Given the description of an element on the screen output the (x, y) to click on. 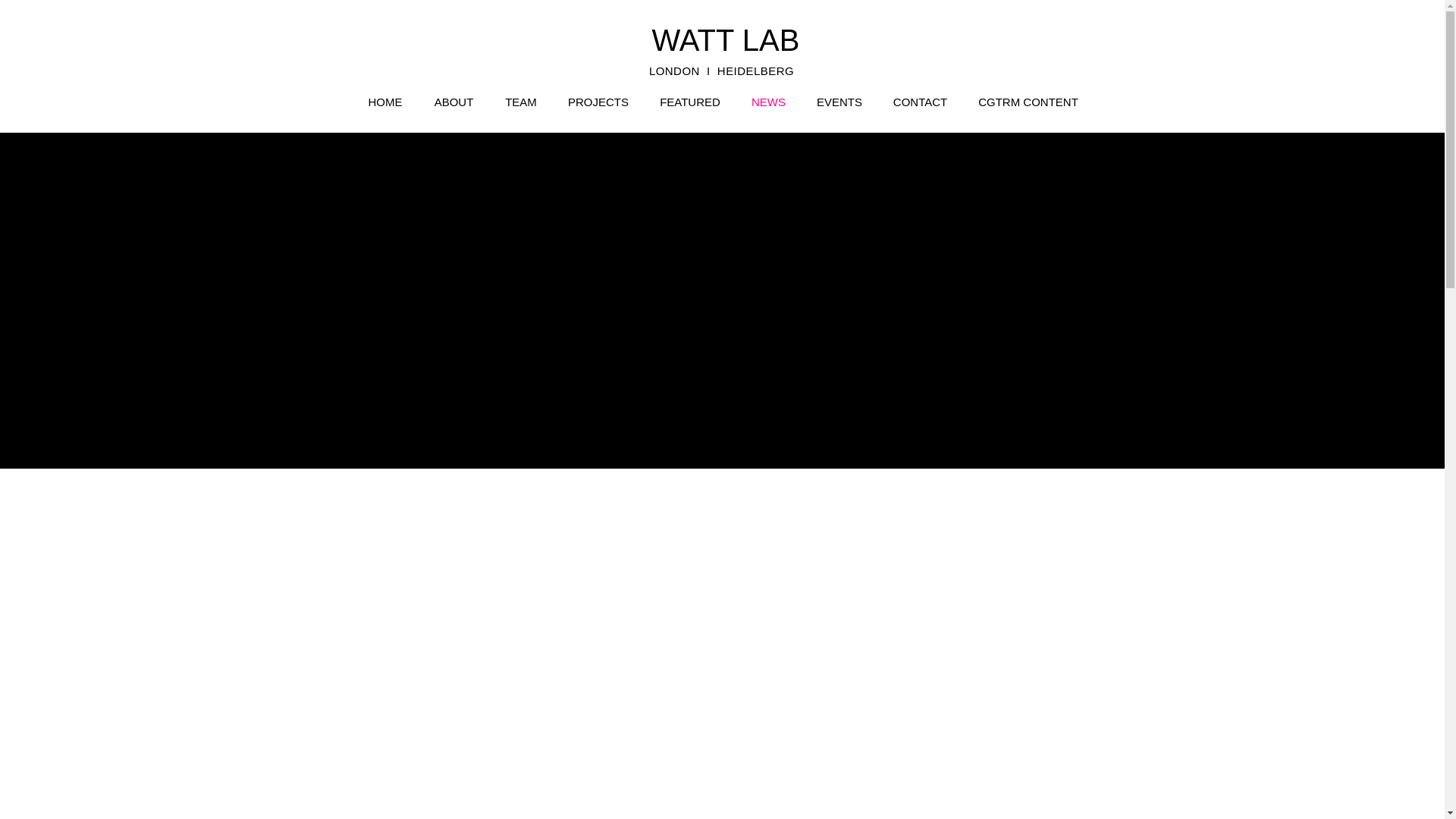
EVENTS (838, 101)
NEWS (767, 101)
FEATURED (690, 101)
WATT LAB (725, 39)
CONTACT (919, 101)
PROJECTS (597, 101)
CGTRM CONTENT (1028, 101)
ABOUT (454, 101)
HOME (384, 101)
